Given the description of an element on the screen output the (x, y) to click on. 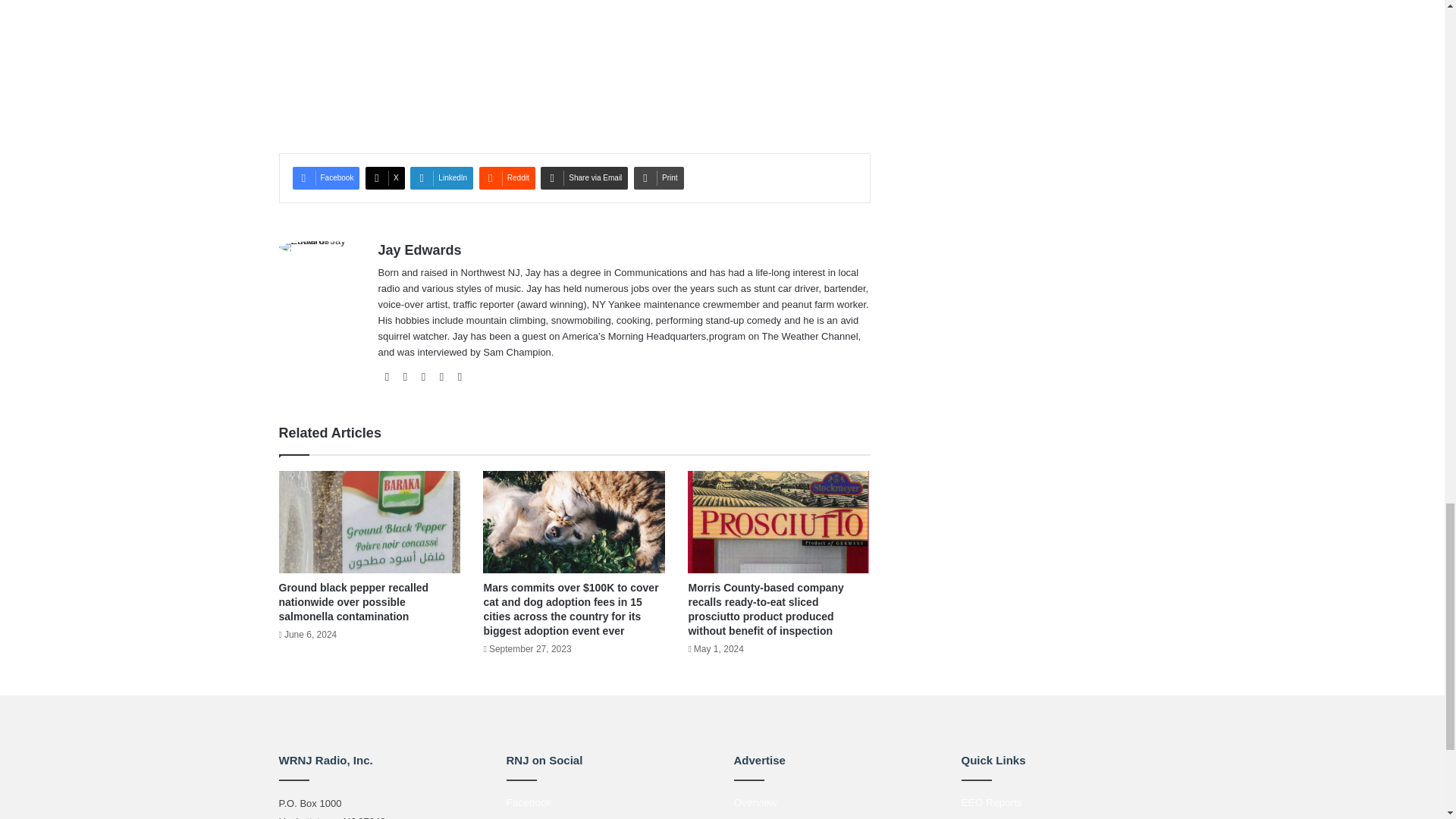
Facebook (325, 178)
Reddit (507, 178)
LinkedIn (441, 178)
Print (658, 178)
X (384, 178)
Share via Email (583, 178)
